Given the description of an element on the screen output the (x, y) to click on. 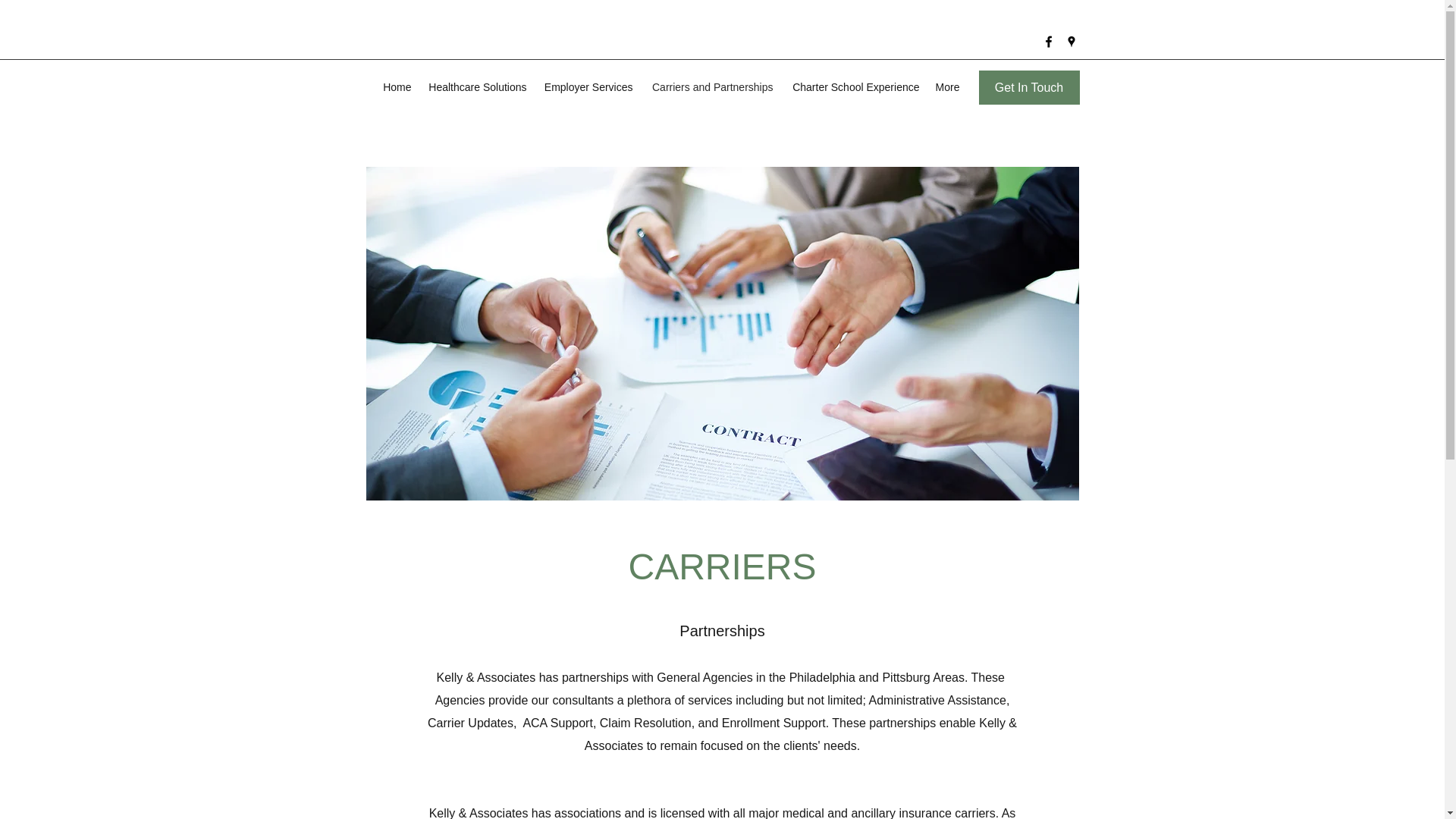
Carriers and Partnerships (710, 87)
Healthcare Solutions (476, 87)
Home (396, 87)
Charter School Experience (853, 87)
Employer Services (587, 87)
Get In Touch (1028, 87)
